Given the description of an element on the screen output the (x, y) to click on. 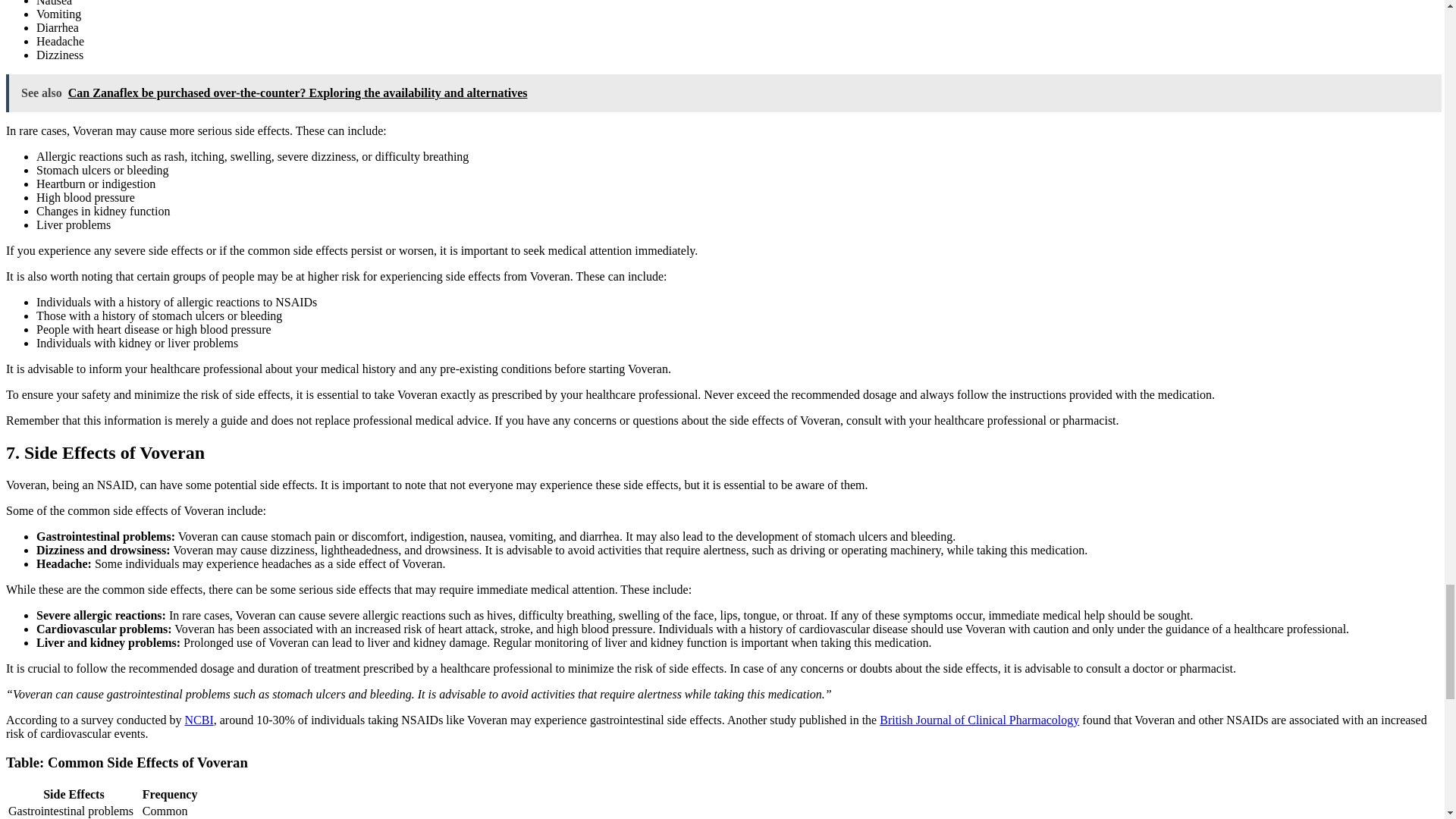
NCBI (198, 719)
British Journal of Clinical Pharmacology (978, 719)
